Given the description of an element on the screen output the (x, y) to click on. 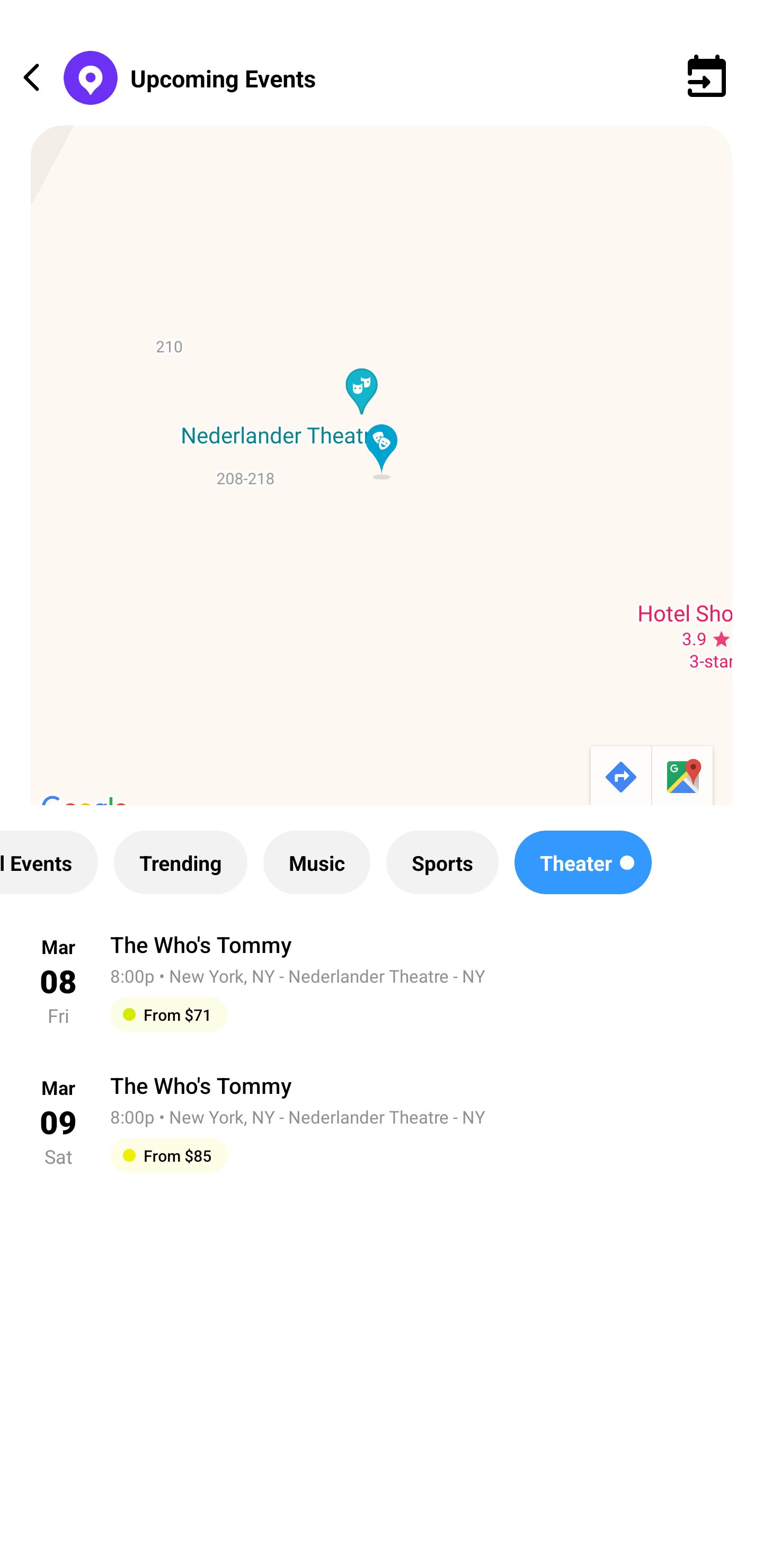
Get directions (618, 777)
Open in Google Maps (683, 777)
Trending (180, 862)
Music (316, 862)
Sports (442, 862)
Theater (582, 862)
